Given the description of an element on the screen output the (x, y) to click on. 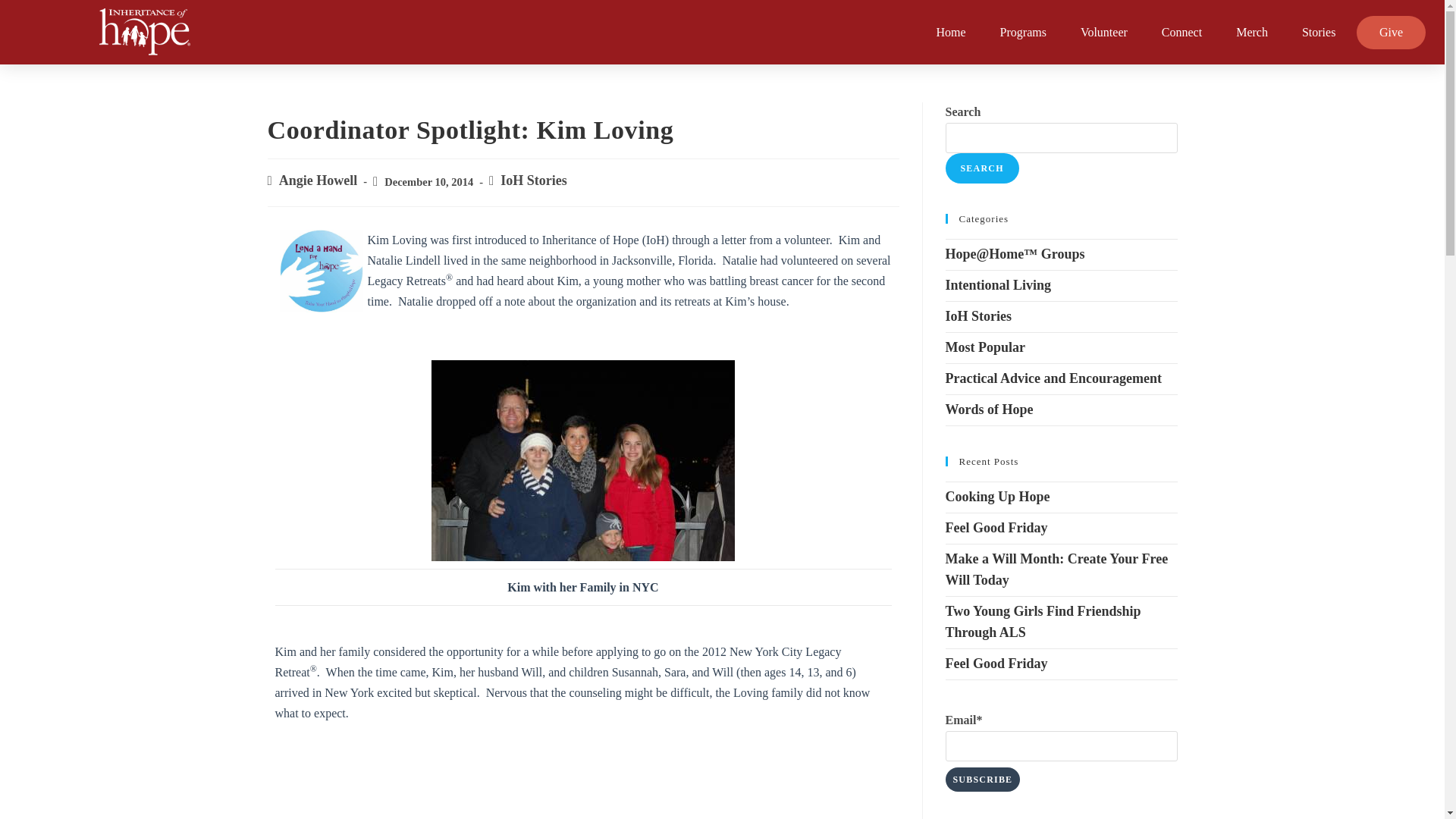
Volunteer (1103, 32)
Posts by Angie Howell (318, 180)
Subscribe (982, 779)
Kim with her Family in NYC (582, 460)
Give (1390, 31)
Connect (1181, 32)
Click here to see how! (320, 271)
Programs (1023, 32)
